Given the description of an element on the screen output the (x, y) to click on. 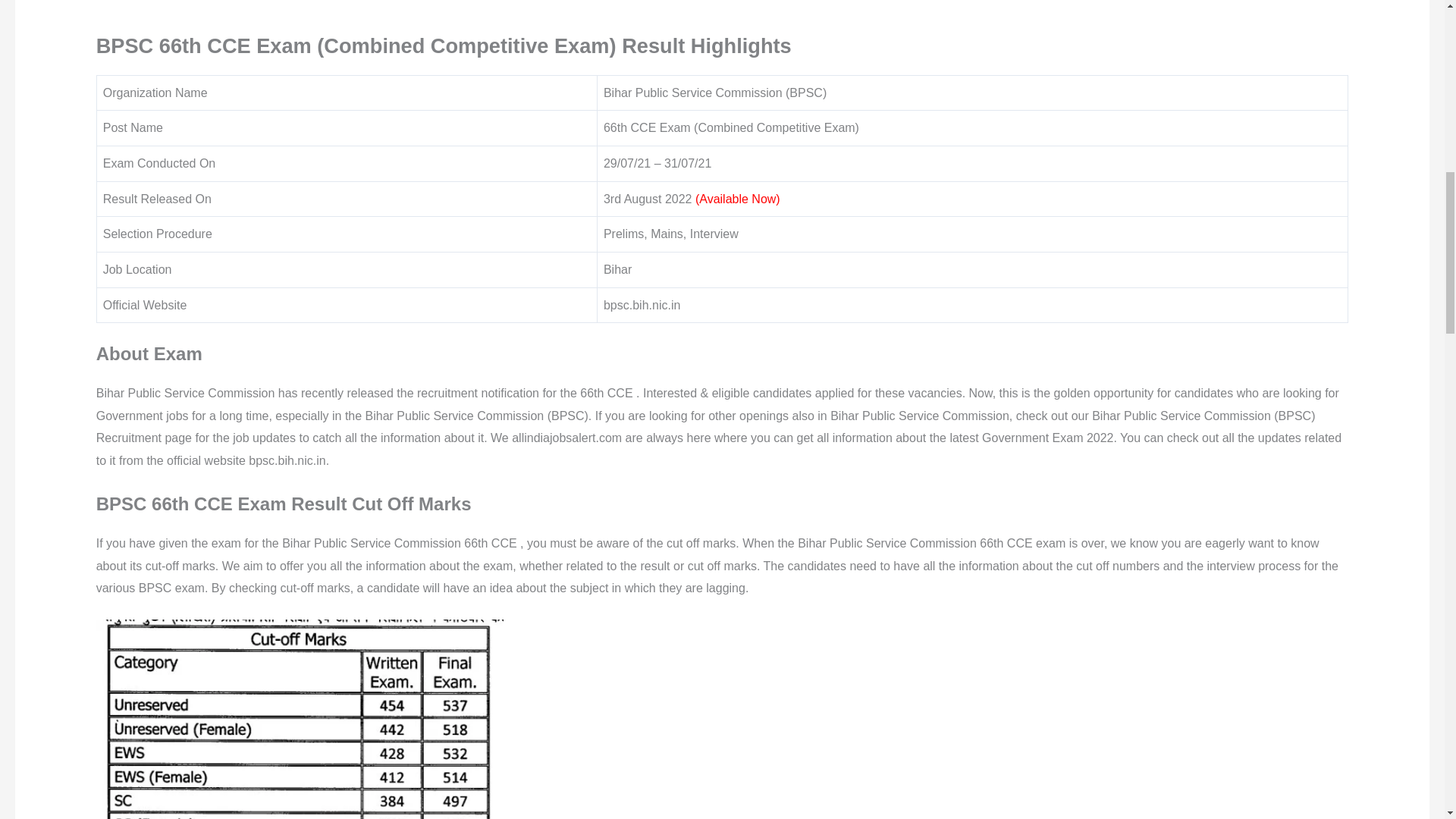
Advertisement (721, 13)
